Given the description of an element on the screen output the (x, y) to click on. 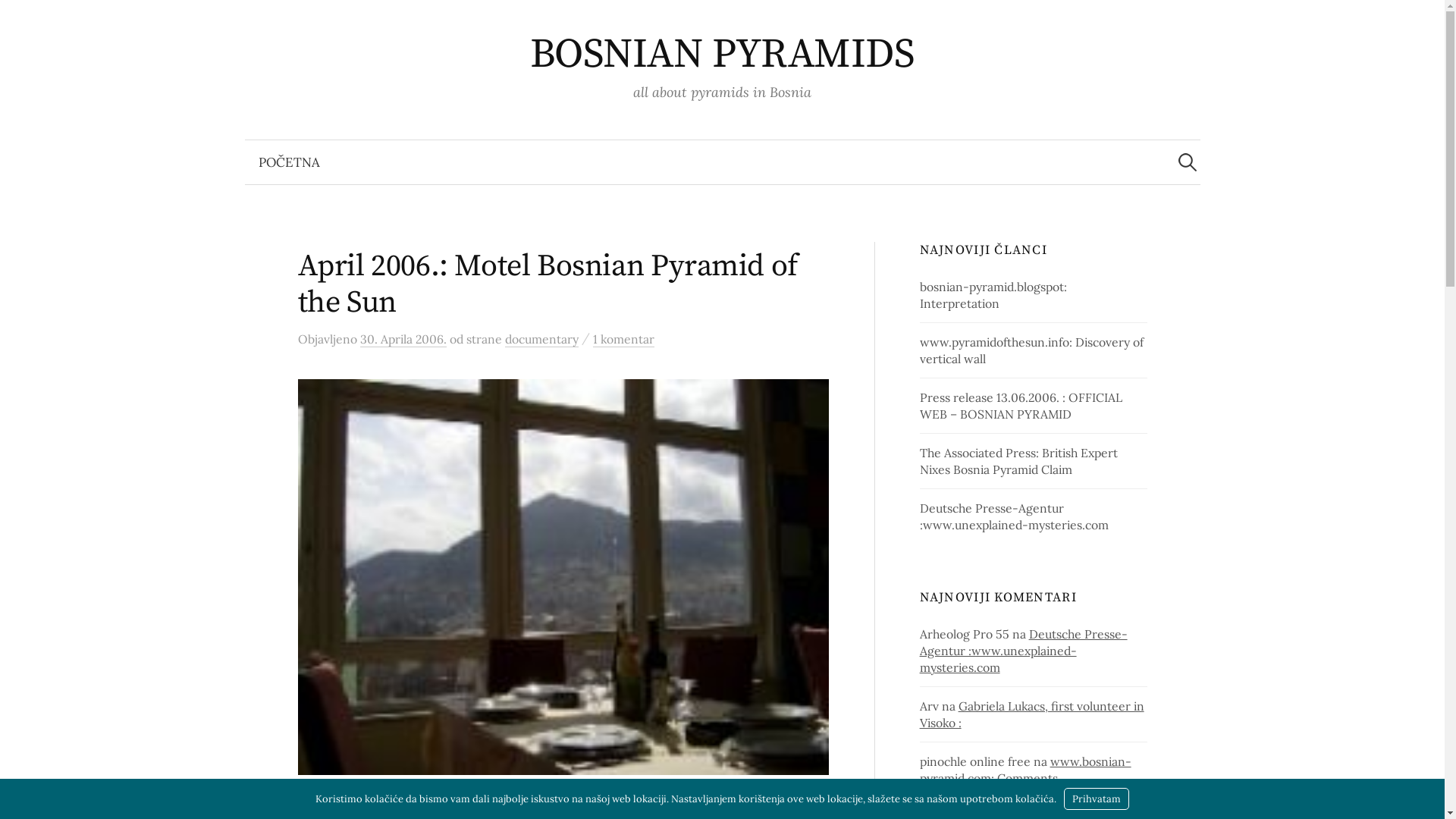
Gabriela Lukacs, first volunteer in Visoko : Element type: text (1031, 714)
Pretraga Element type: text (18, 18)
BOSNIAN PYRAMIDS Element type: text (722, 54)
www.pyramidofthesun.info: Discovery of vertical wall Element type: text (1031, 350)
Deutsche Presse-Agentur :www.unexplained-mysteries.com Element type: text (1013, 516)
Prihvatam Element type: text (1096, 798)
1 komentar
na April 2006.: Motel Bosnian Pyramid of the Sun Element type: text (623, 339)
www.bosnian-pyramid.com: Comments Element type: text (1025, 769)
documentary Element type: text (541, 339)
30. Aprila 2006. Element type: text (402, 339)
bosnian-pyramid.blogspot: Interpretation Element type: text (992, 294)
Deutsche Presse-Agentur :www.unexplained-mysteries.com Element type: text (1023, 650)
